Given the description of an element on the screen output the (x, y) to click on. 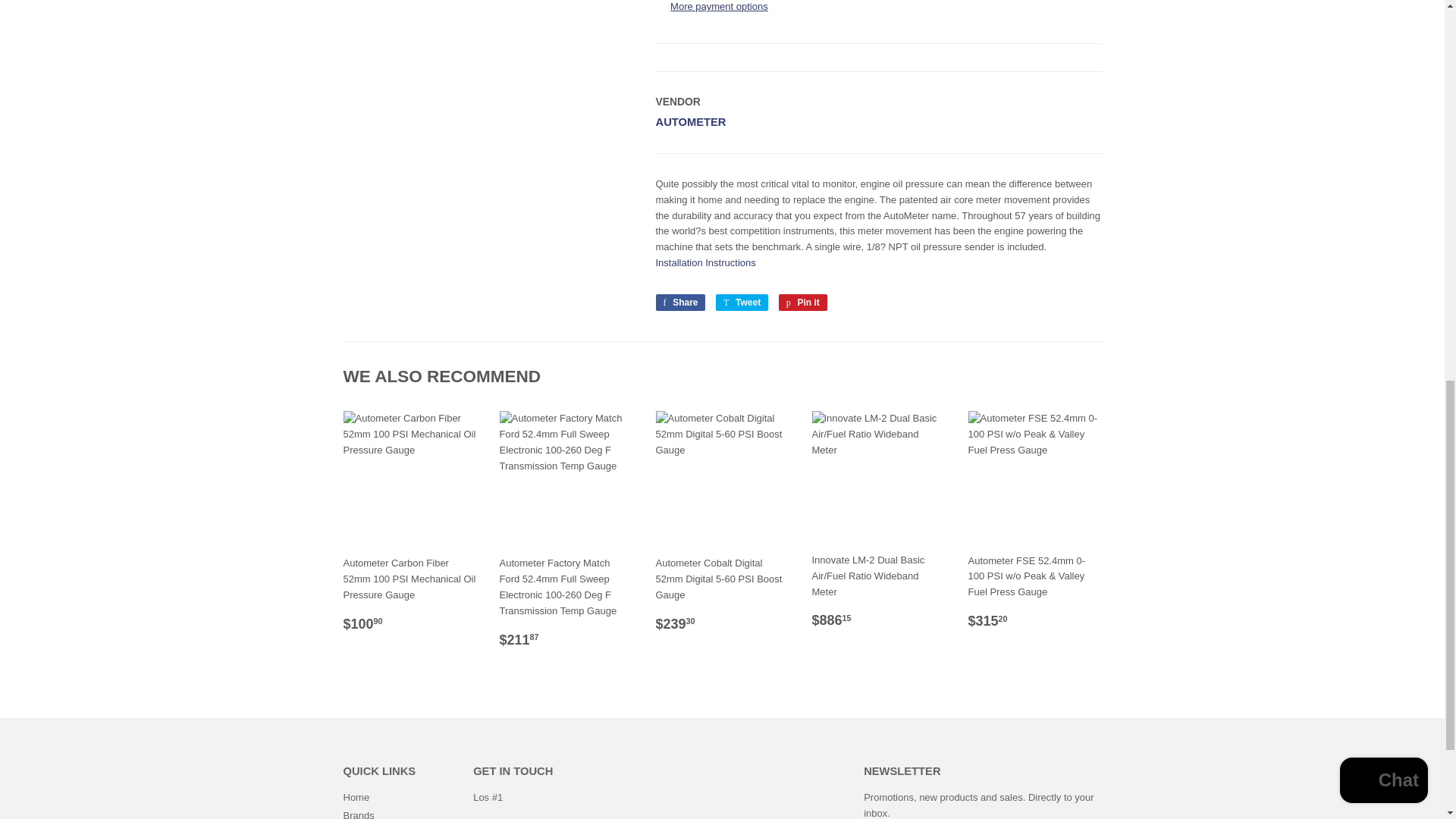
Share on Facebook (679, 302)
Pin on Pinterest (802, 302)
Tweet on Twitter (742, 302)
AutoMeter (690, 121)
